Given the description of an element on the screen output the (x, y) to click on. 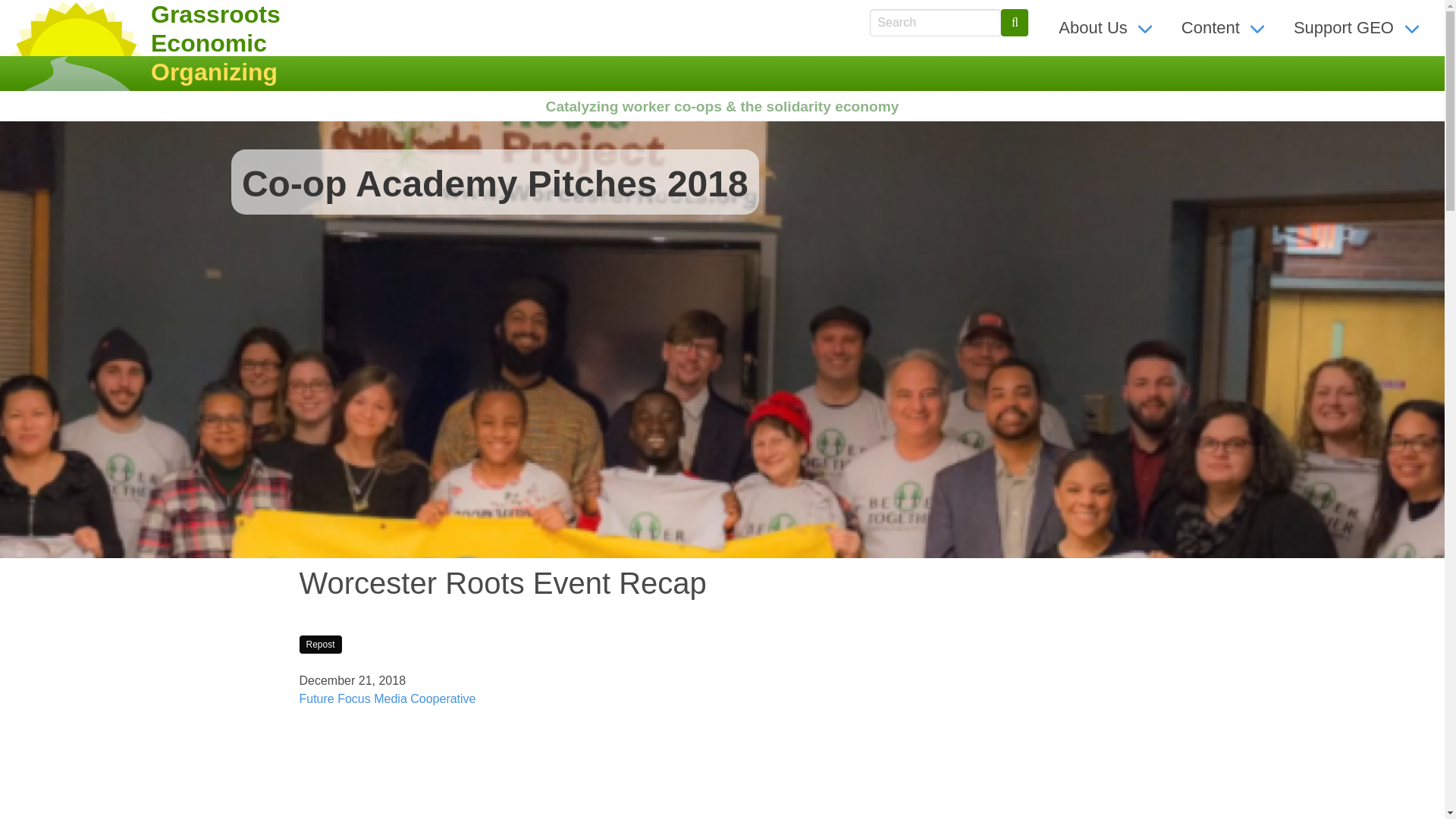
Search (1014, 22)
Home (206, 43)
Article, Blogs, Gleanings, and More! (1225, 27)
Grassroots Economic Organizing (206, 43)
About Us (1107, 27)
About GEO (1107, 27)
Home (75, 45)
Repost (319, 644)
Content (1225, 27)
Future Focus Media Cooperative (387, 698)
Support GEO (1358, 27)
